Given the description of an element on the screen output the (x, y) to click on. 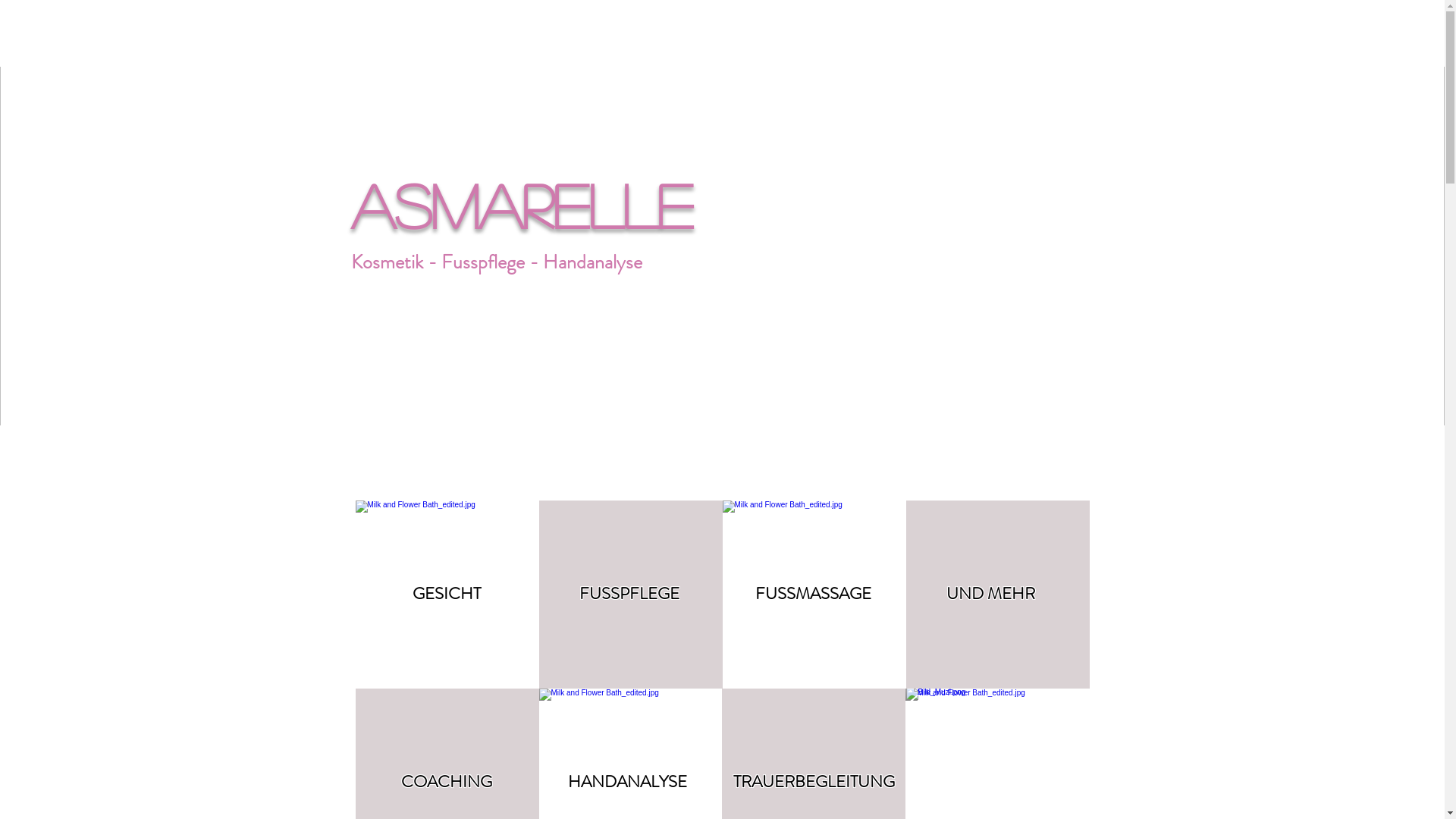
FUSSMASSAGE Element type: text (813, 592)
FUSSPFLEGE Element type: text (629, 592)
AUTHENTIC
COACHING Element type: text (995, 593)
TRAUERBEGLEITUNG Element type: text (813, 780)
UND MEHR Element type: text (990, 592)
COACHING Element type: text (445, 780)
HANDANALYSE Element type: text (626, 780)
GESICHT Element type: text (446, 592)
